Given the description of an element on the screen output the (x, y) to click on. 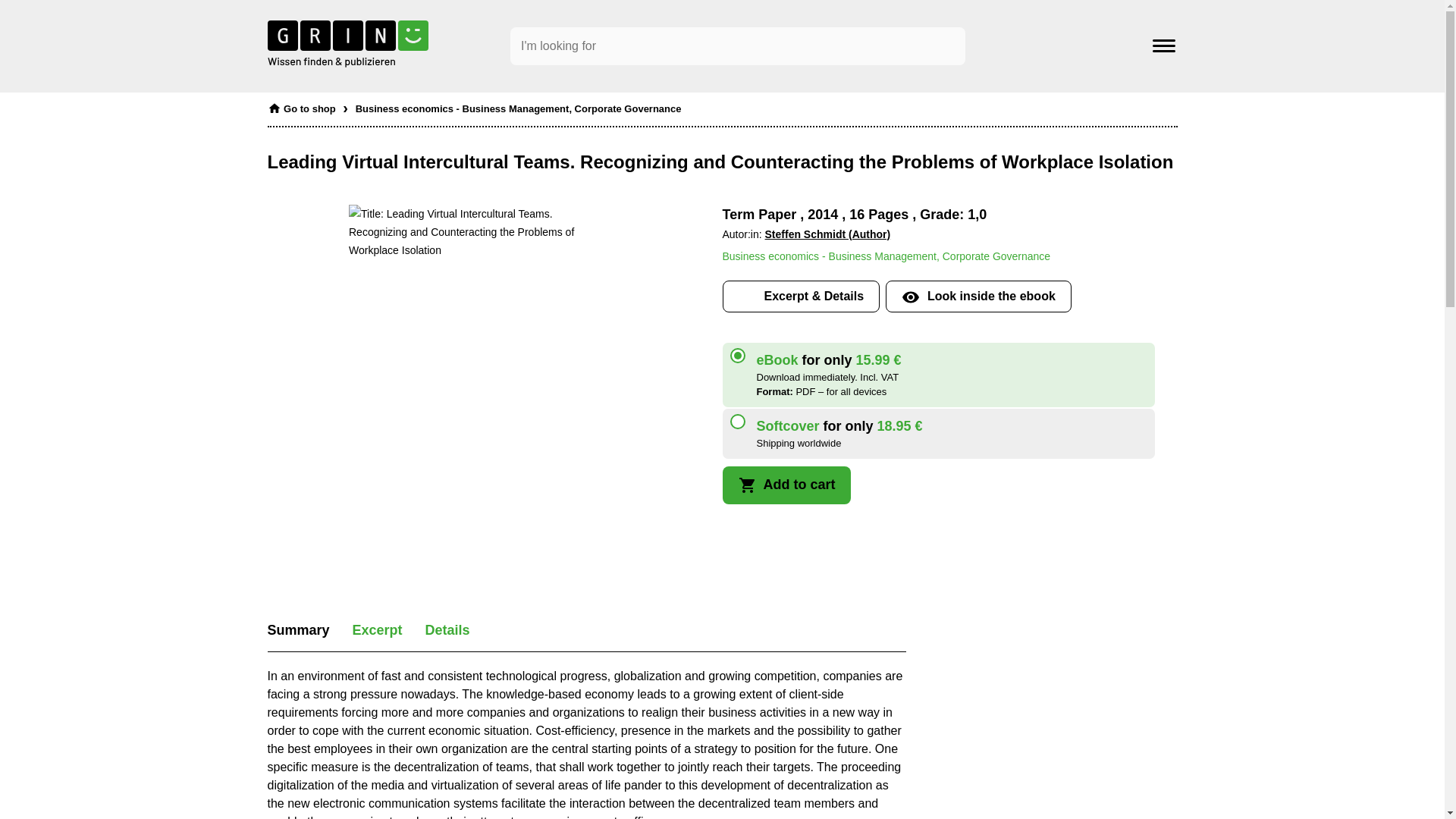
Details (447, 629)
Add to cart (786, 485)
Excerpt (377, 629)
Look inside the ebook (978, 296)
Excerpt (377, 629)
Summary (297, 629)
Details (447, 629)
Summary (297, 629)
Go to shop (300, 104)
